Given the description of an element on the screen output the (x, y) to click on. 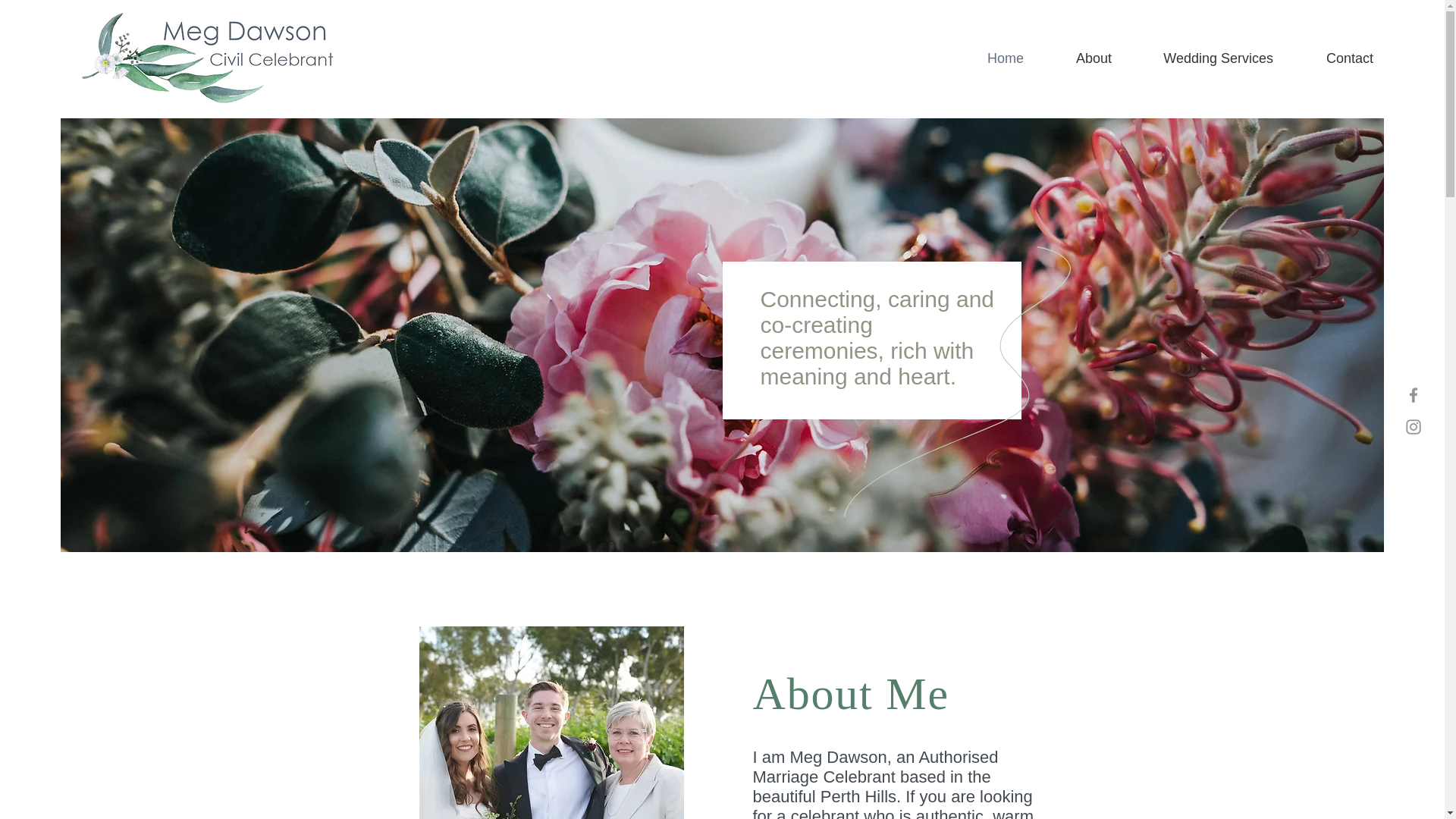
Home (990, 57)
Wedding Services (1203, 57)
About (1078, 57)
Contact (1334, 57)
